Given the description of an element on the screen output the (x, y) to click on. 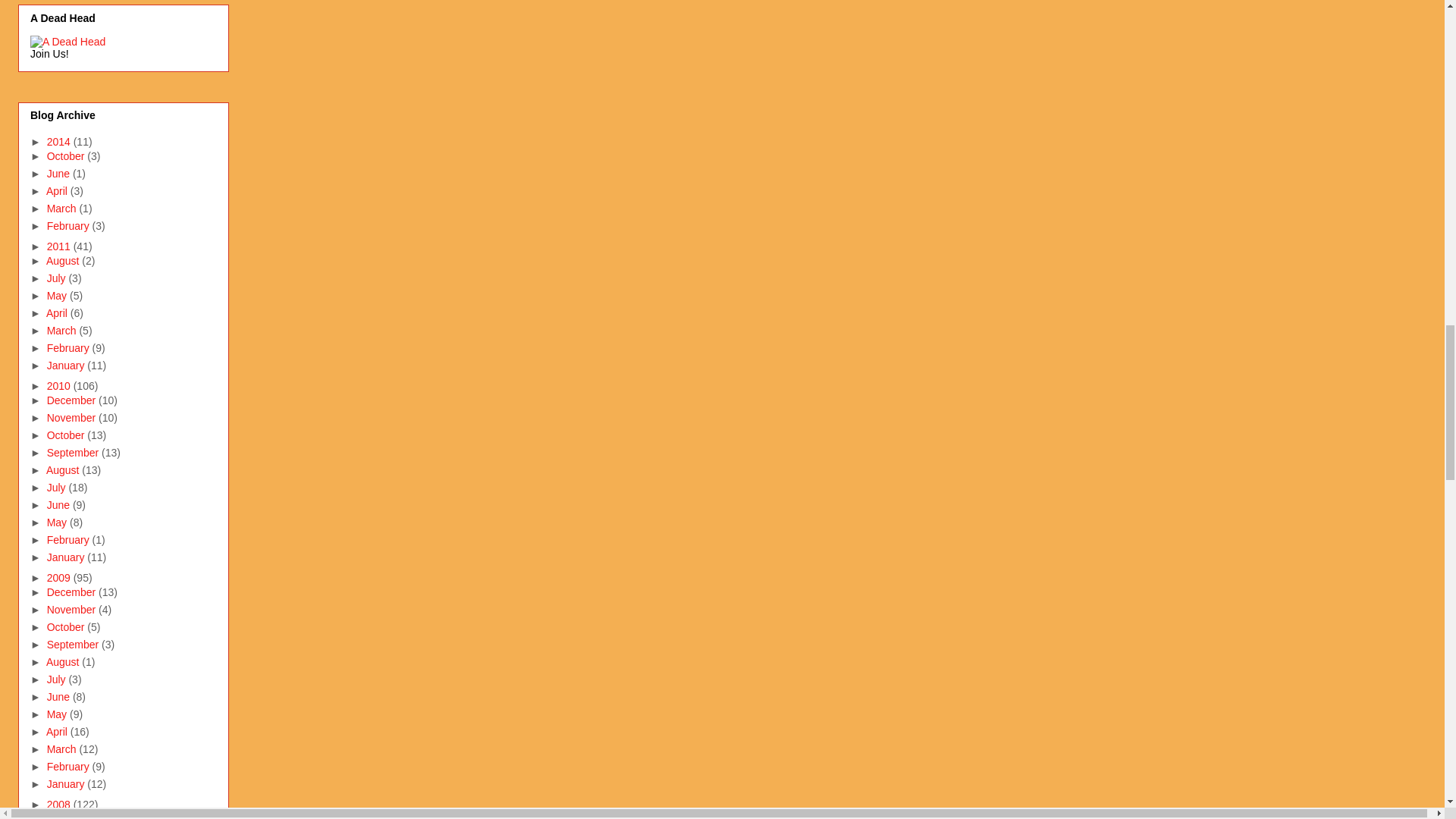
2014 (60, 141)
March (63, 208)
April (57, 191)
October (66, 155)
June (59, 173)
